Given the description of an element on the screen output the (x, y) to click on. 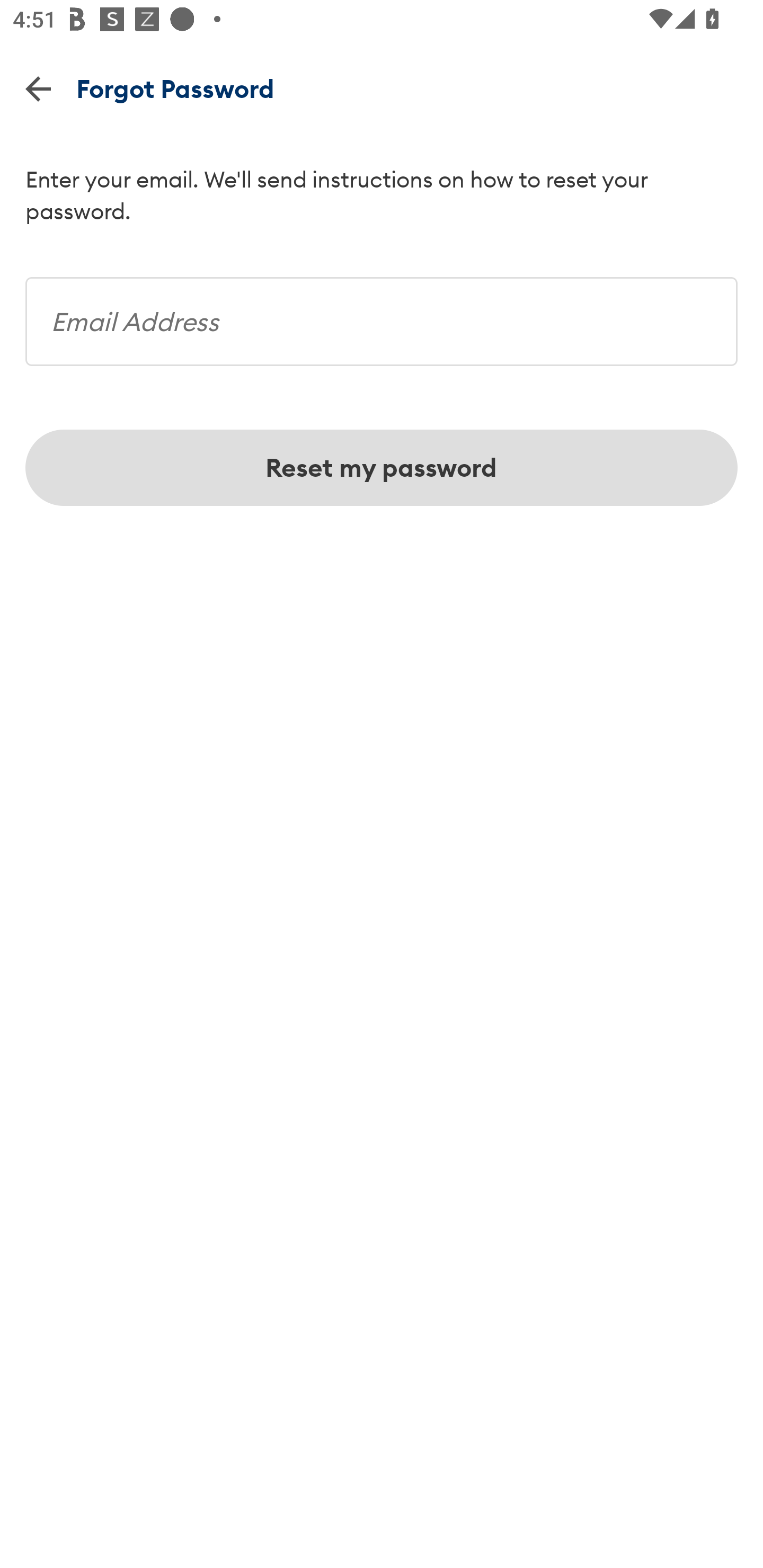
Back (38, 88)
Email Address (381, 314)
Reset my password (381, 467)
